Given the description of an element on the screen output the (x, y) to click on. 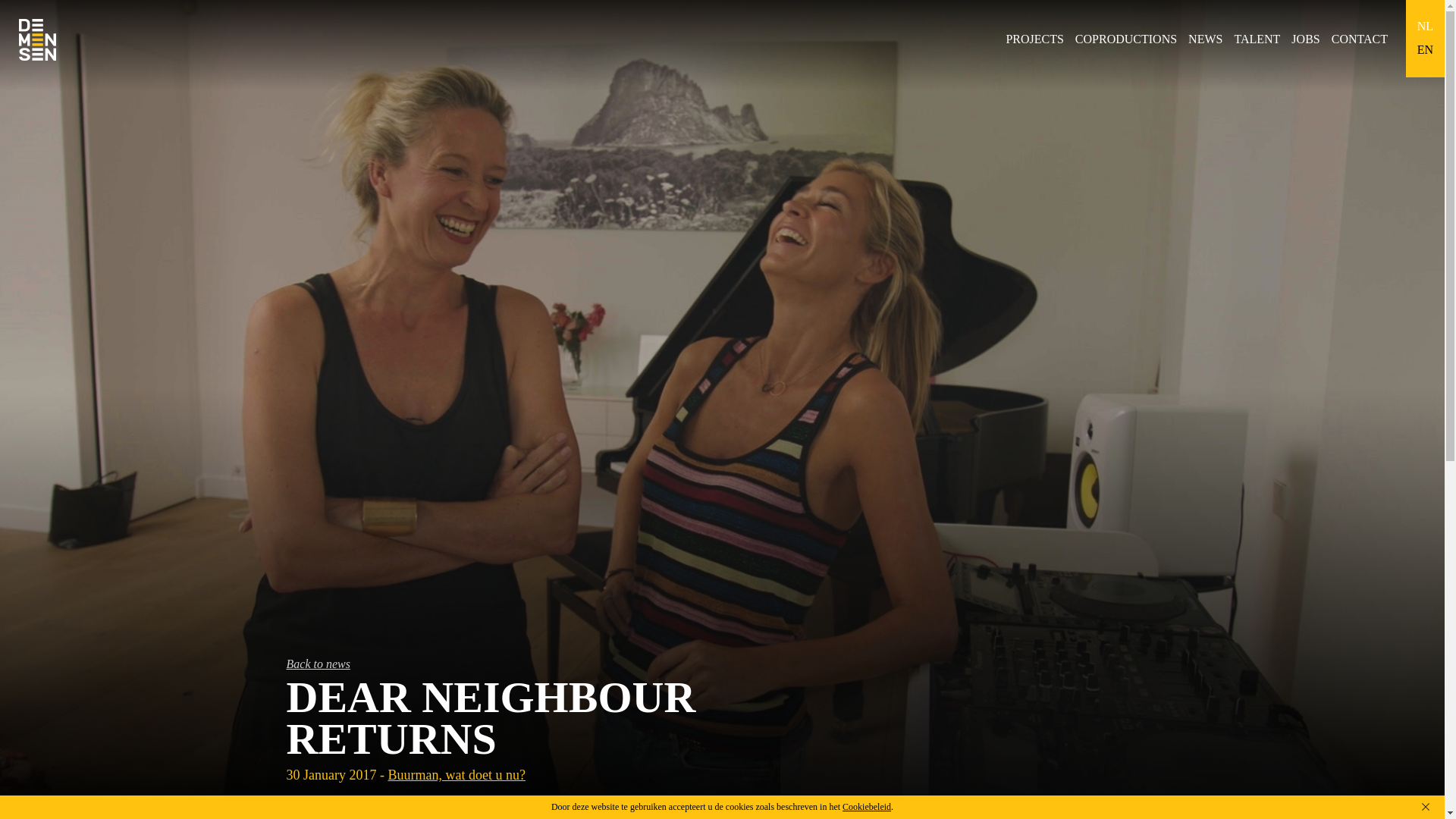
CONTACT (1359, 38)
nl (1424, 26)
Cookiebeleid (867, 806)
NL (1424, 26)
EN (1424, 50)
JOBS (1305, 38)
COPRODUCTIONS (1125, 38)
Back to news (722, 664)
Buurman, wat doet u nu? (455, 774)
en (1424, 50)
TALENT (1256, 38)
NEWS (1205, 38)
PROJECTS (1034, 38)
